Given the description of an element on the screen output the (x, y) to click on. 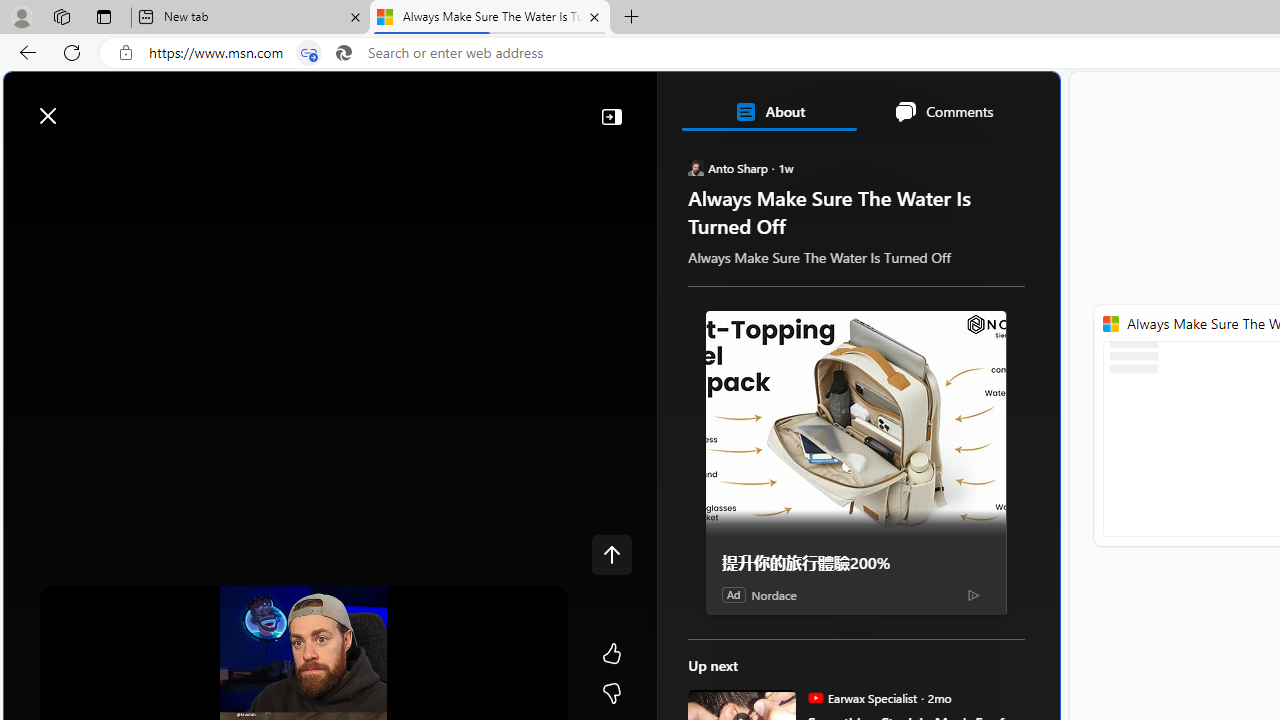
Always Make Sure The Water Is Turned Off (490, 17)
The Associated Press (760, 645)
Microsoft rewards (936, 105)
Anto Sharp (696, 168)
Like (611, 653)
